Given the description of an element on the screen output the (x, y) to click on. 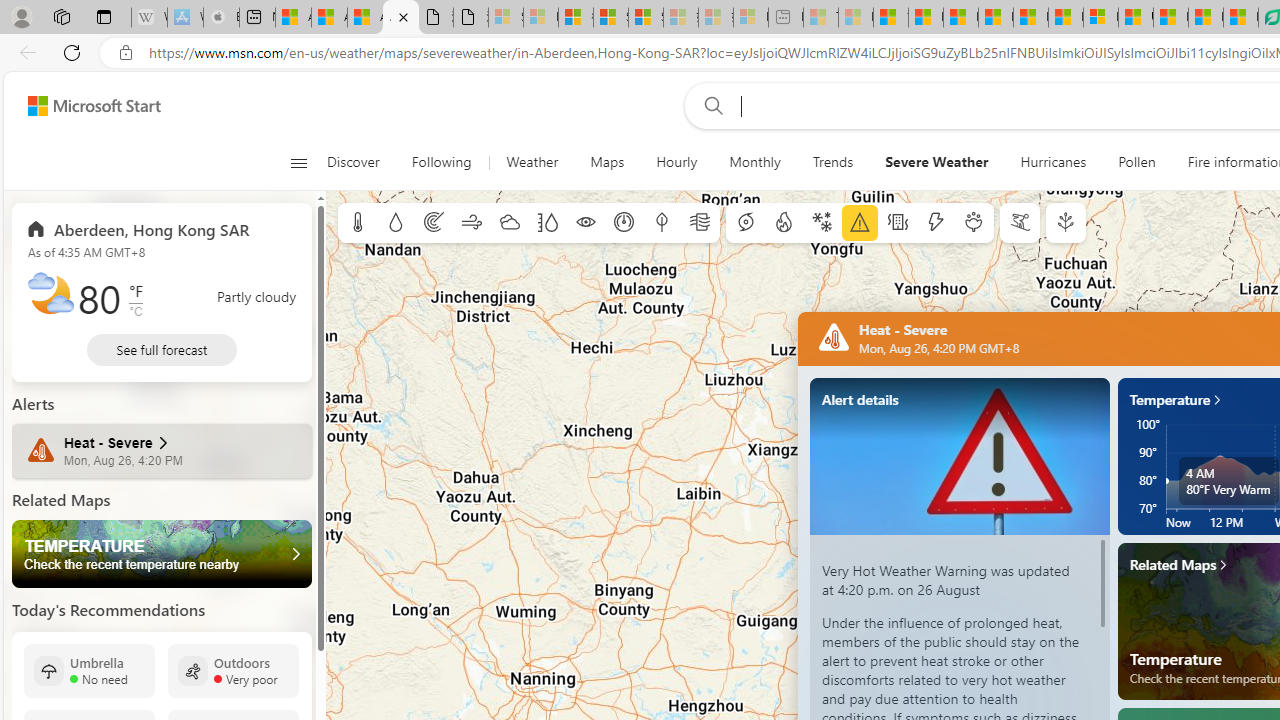
Severe Weather (936, 162)
Trends (832, 162)
Clouds (509, 223)
Temperature (358, 223)
Pollen (1137, 162)
